Given the description of an element on the screen output the (x, y) to click on. 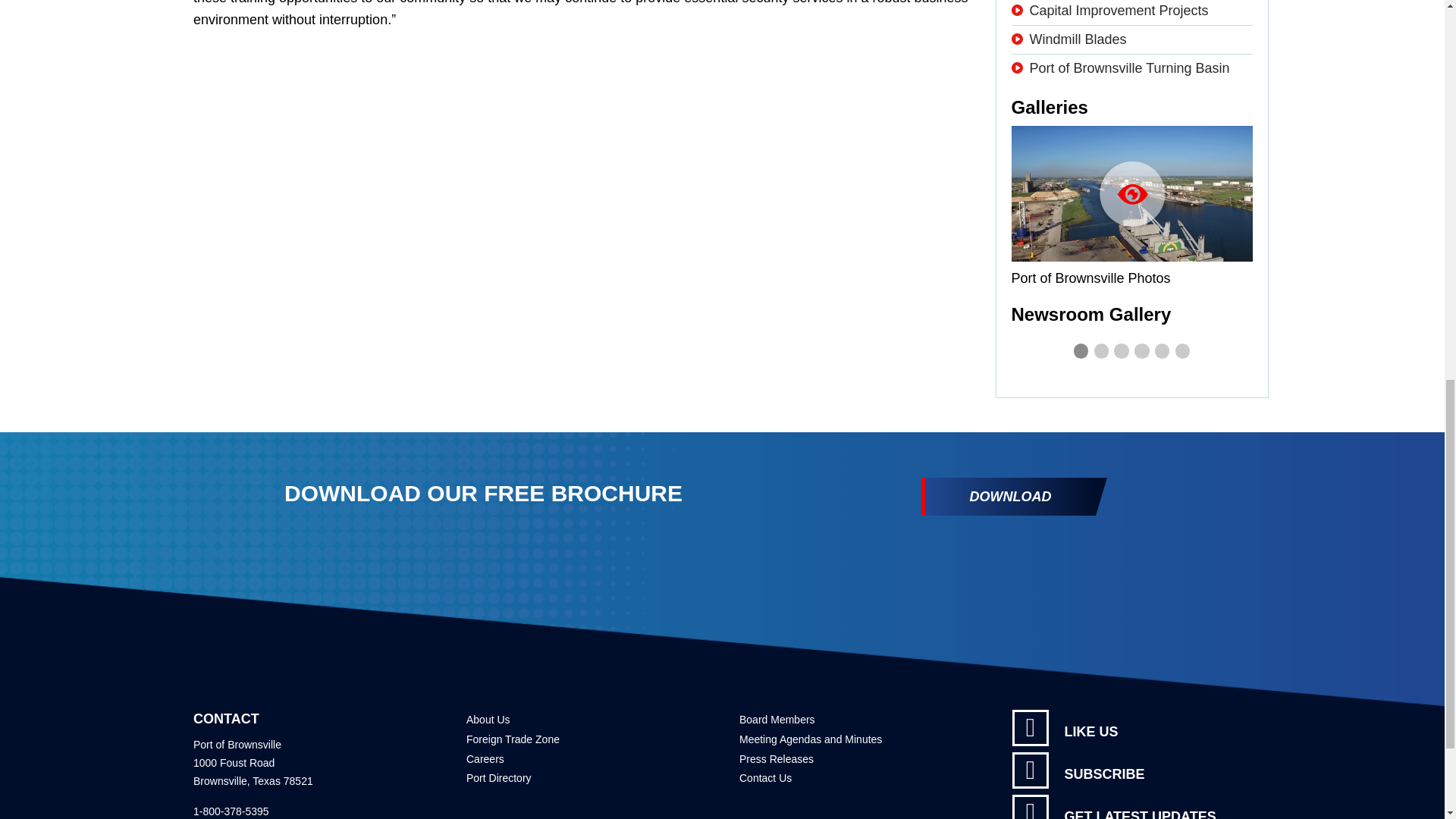
Port of Brownsville Turning Basin (1129, 68)
Windmill Blades (1077, 38)
Capital Improvement Projects (1118, 10)
